Given the description of an element on the screen output the (x, y) to click on. 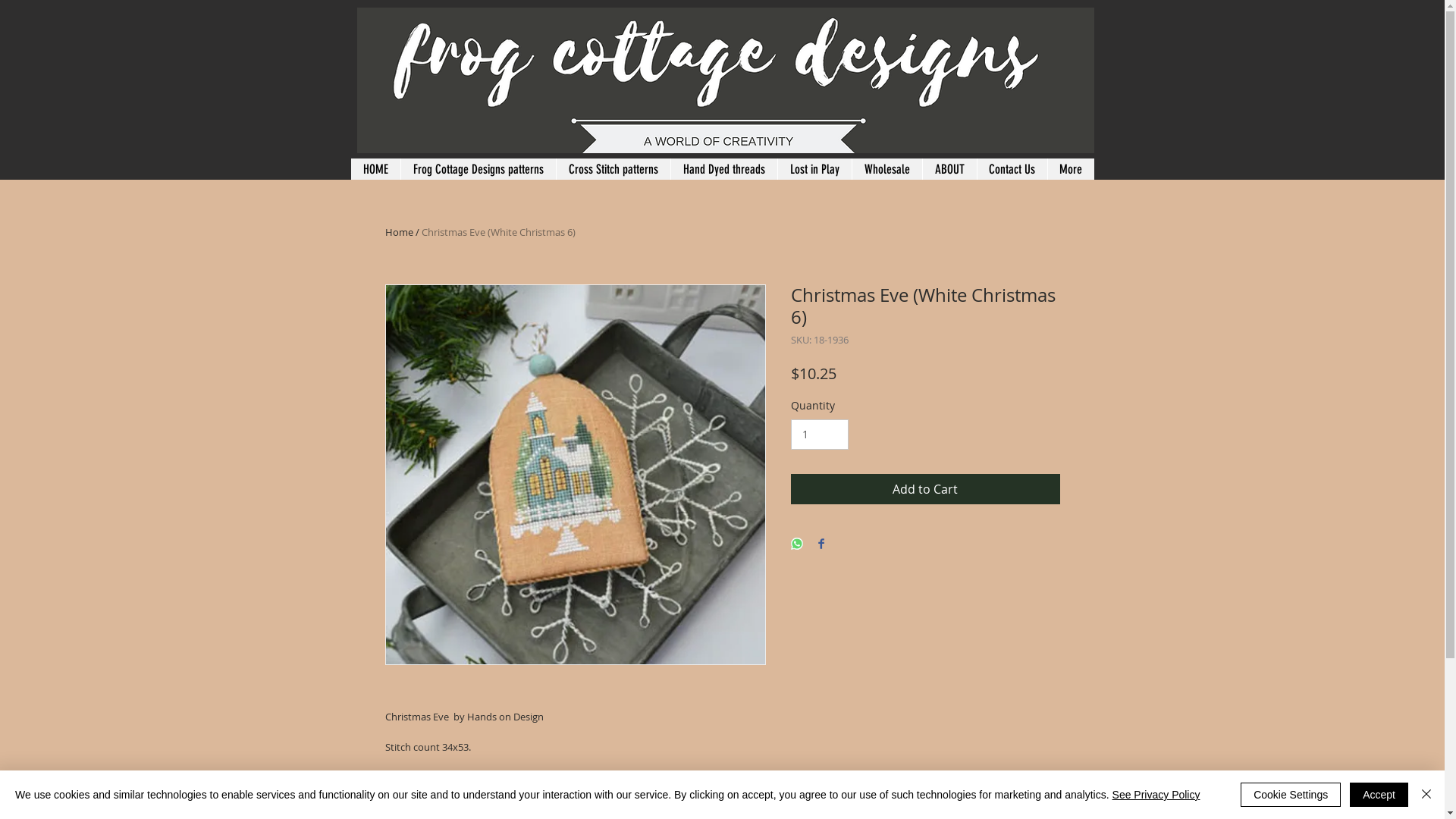
Contact Us Element type: text (1011, 168)
Add to Cart Element type: text (924, 488)
Cookie Settings Element type: text (1290, 794)
Christmas Eve (White Christmas 6) Element type: text (498, 231)
Wholesale Element type: text (885, 168)
HOME Element type: text (374, 168)
See Privacy Policy Element type: text (1156, 794)
Hand Dyed threads Element type: text (723, 168)
Lost in Play Element type: text (813, 168)
Accept Element type: text (1378, 794)
Frog Cottage Designs patterns Element type: text (477, 168)
ABOUT Element type: text (949, 168)
Cross Stitch patterns Element type: text (612, 168)
Home Element type: text (399, 231)
